Given the description of an element on the screen output the (x, y) to click on. 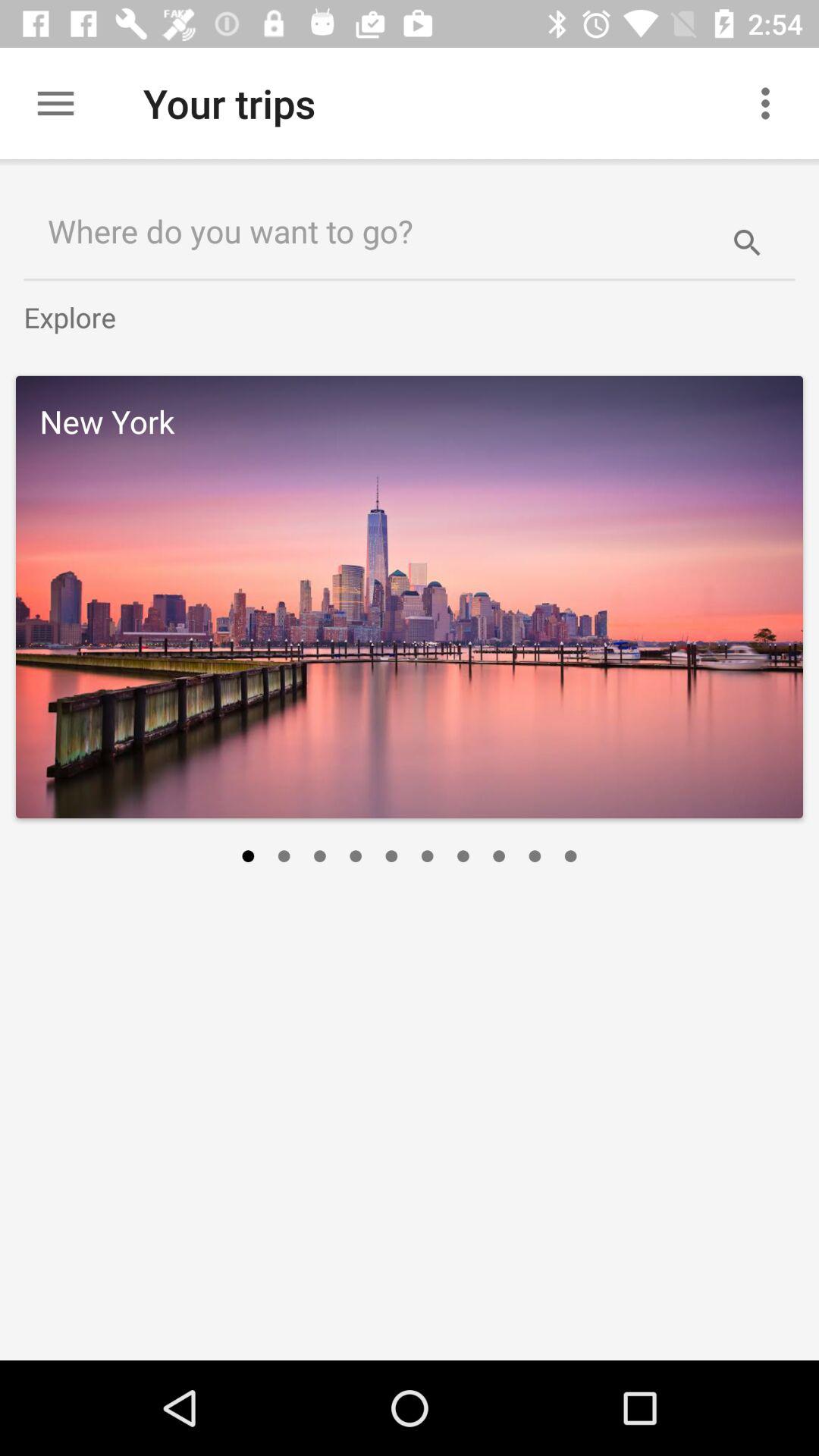
open item next to the where do you icon (747, 230)
